Given the description of an element on the screen output the (x, y) to click on. 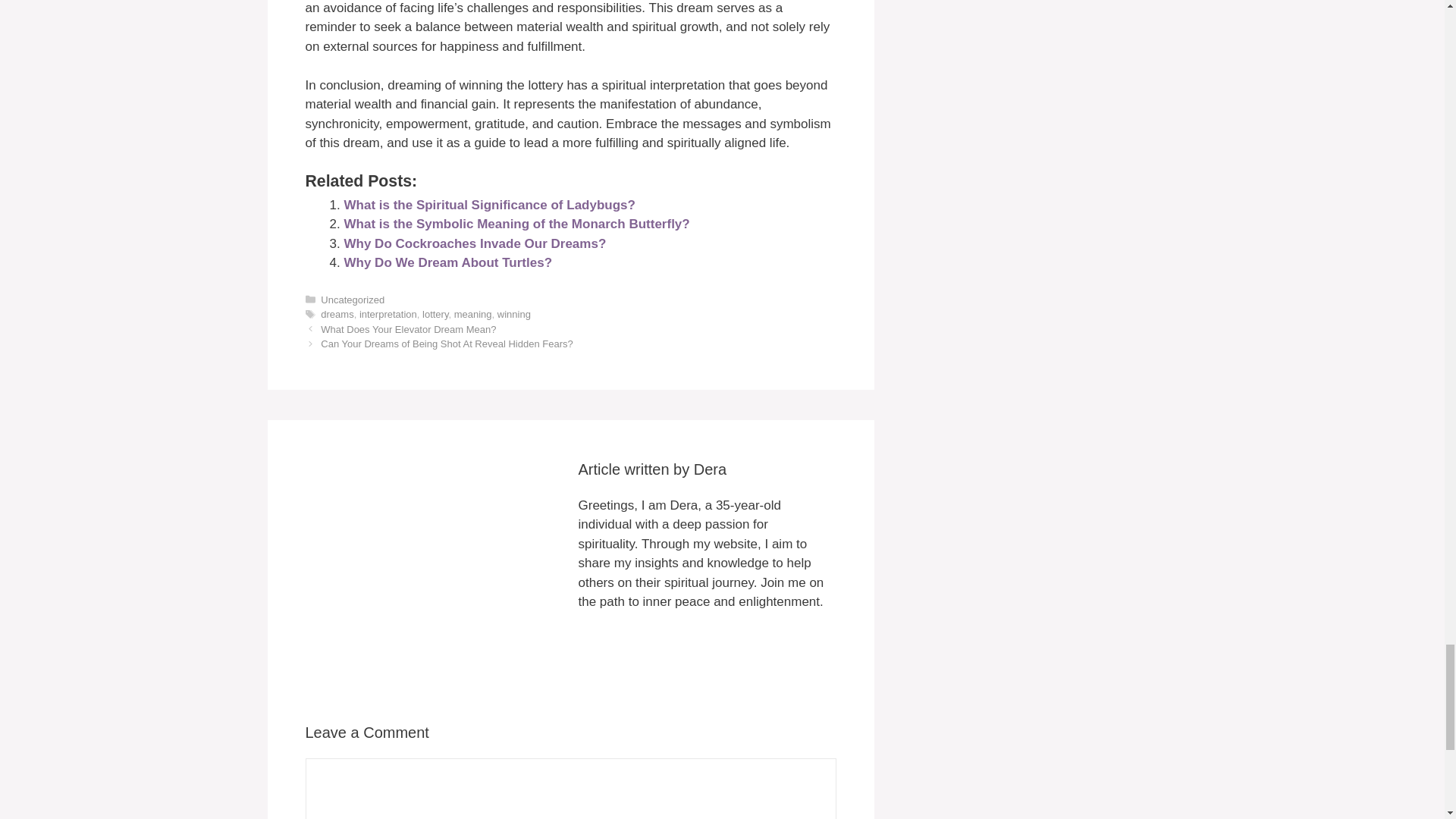
What is the Spiritual Significance of Ladybugs? (488, 205)
interpretation (387, 314)
Why Do We Dream About Turtles? (448, 262)
meaning (473, 314)
lottery (435, 314)
Uncategorized (352, 299)
Why Do Cockroaches Invade Our Dreams? (475, 243)
winning (514, 314)
dreams (336, 314)
What is the Symbolic Meaning of the Monarch Butterfly? (516, 223)
